Given the description of an element on the screen output the (x, y) to click on. 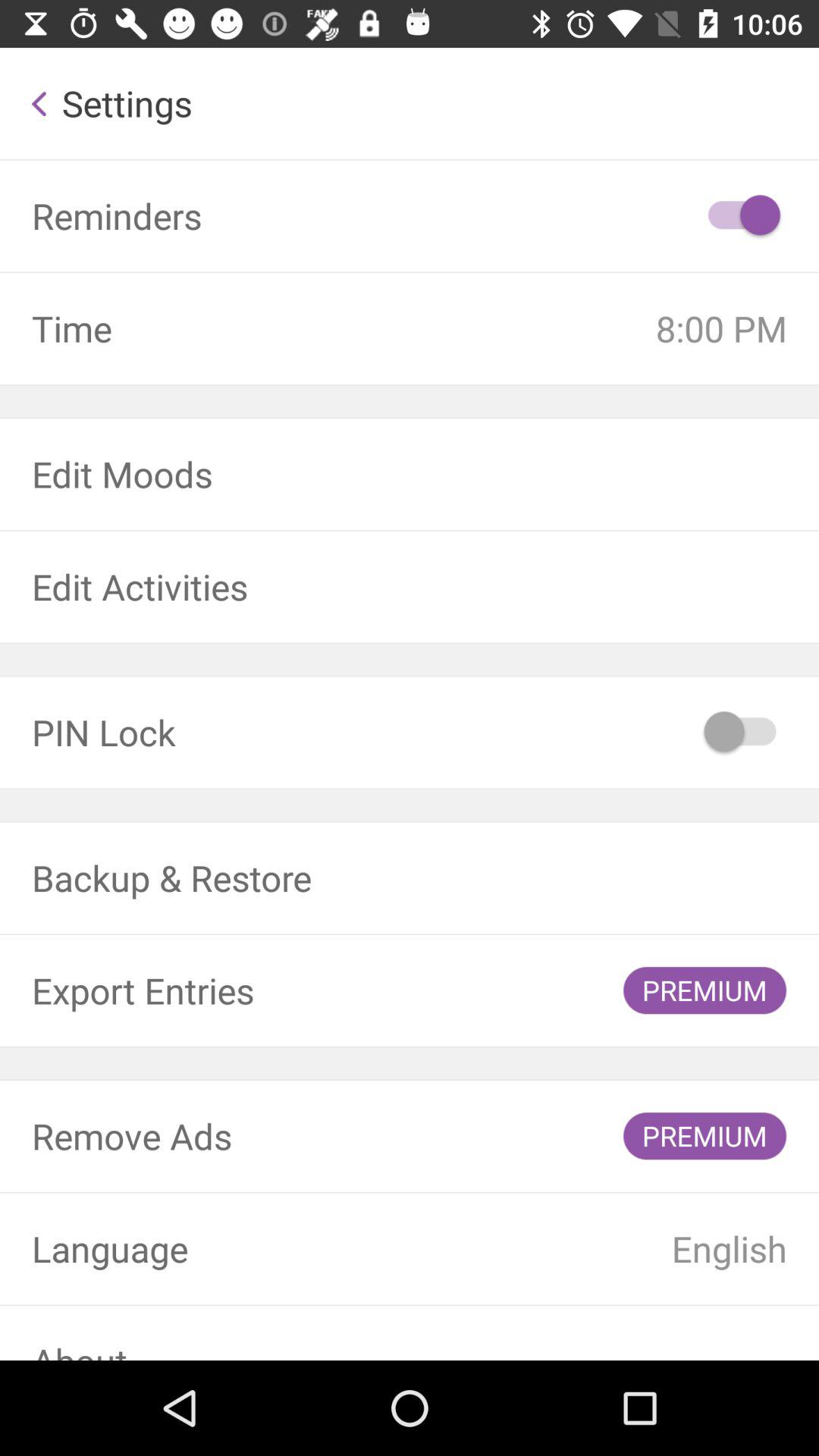
toggle pin lock (742, 732)
